Given the description of an element on the screen output the (x, y) to click on. 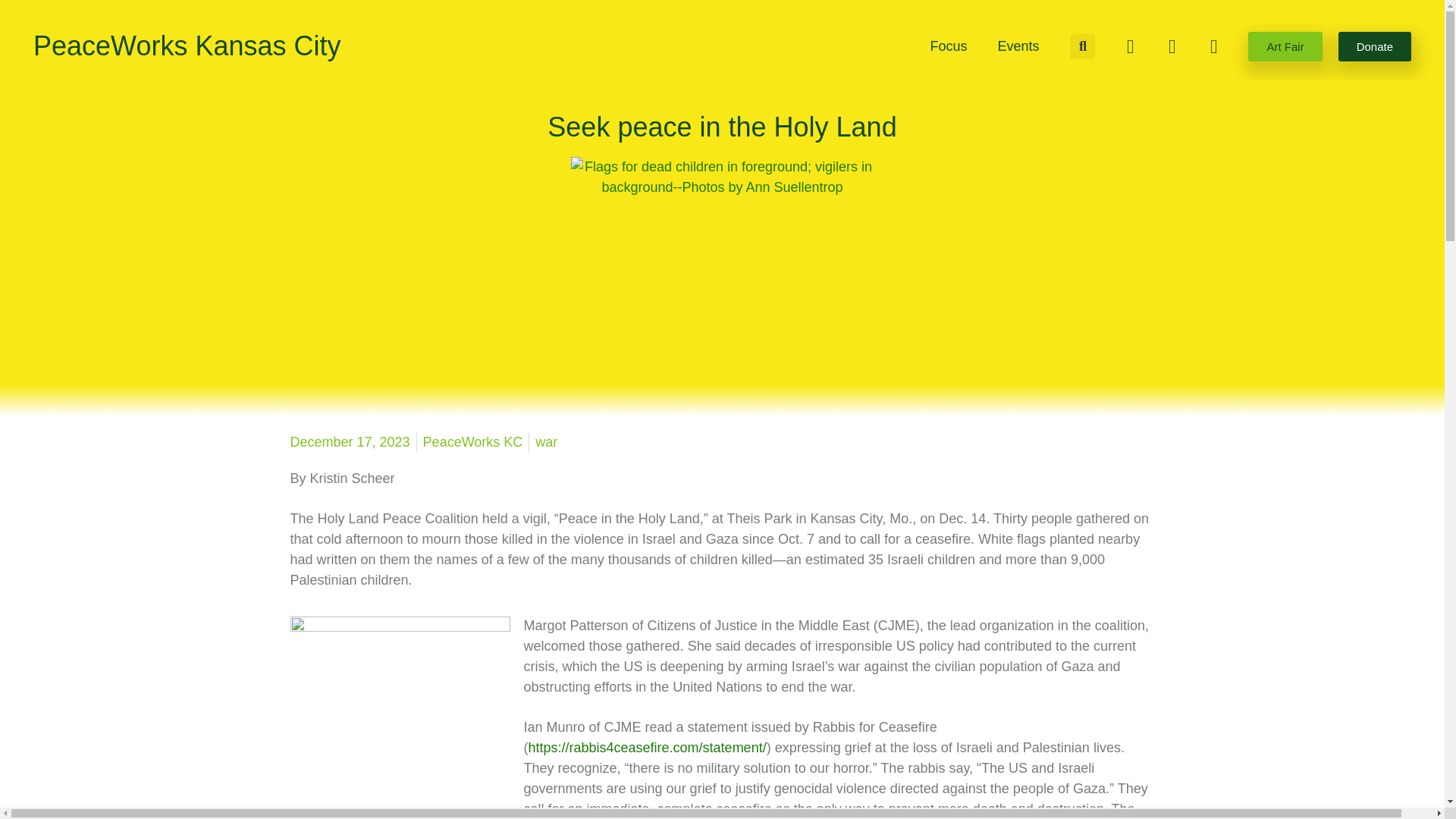
war (546, 441)
December 17, 2023 (349, 442)
Donate (1374, 46)
Events (1017, 45)
PeaceWorks KC (472, 442)
PeaceWorks Kansas City (186, 45)
Art Fair (1284, 46)
Focus (947, 45)
